Given the description of an element on the screen output the (x, y) to click on. 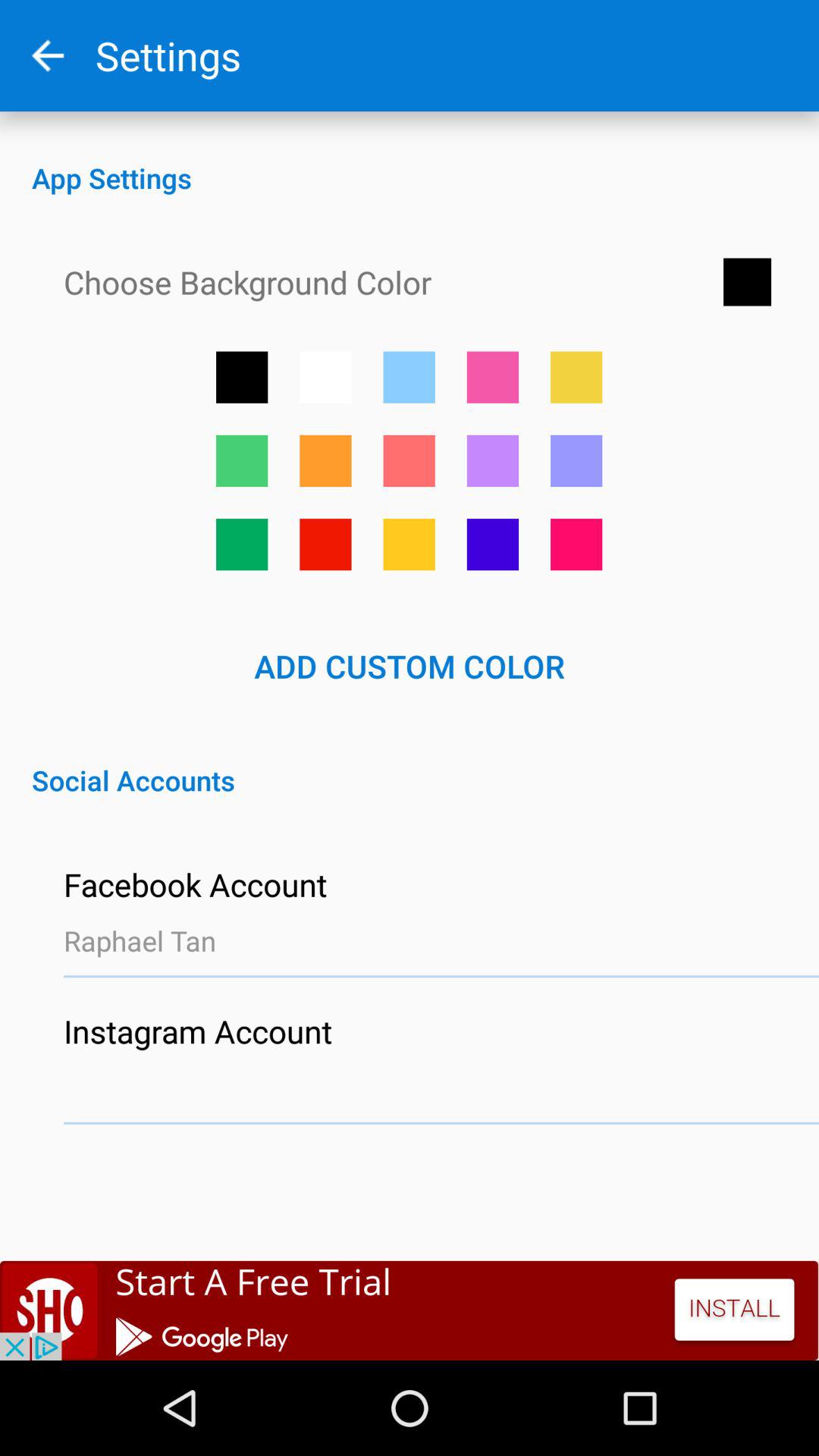
back ground colour selection (576, 460)
